Given the description of an element on the screen output the (x, y) to click on. 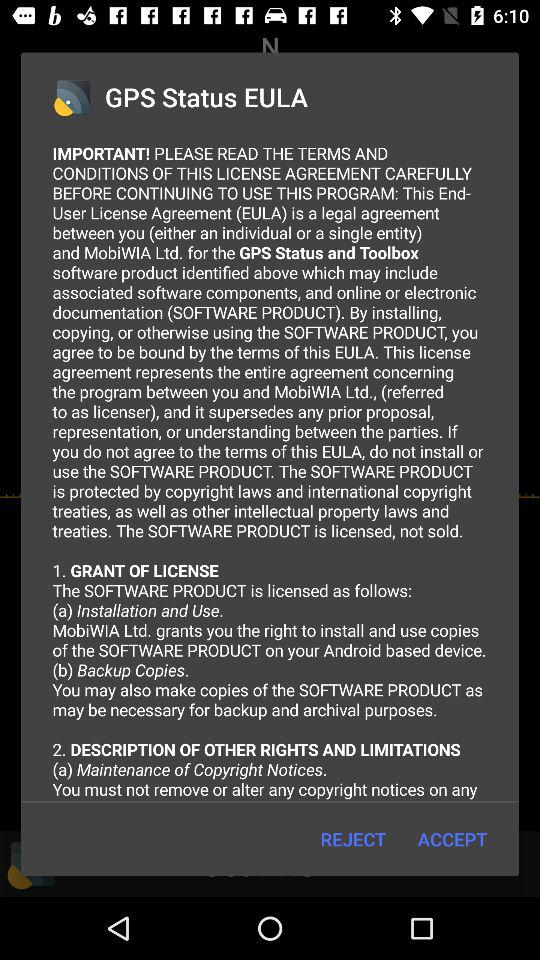
click reject item (352, 838)
